Given the description of an element on the screen output the (x, y) to click on. 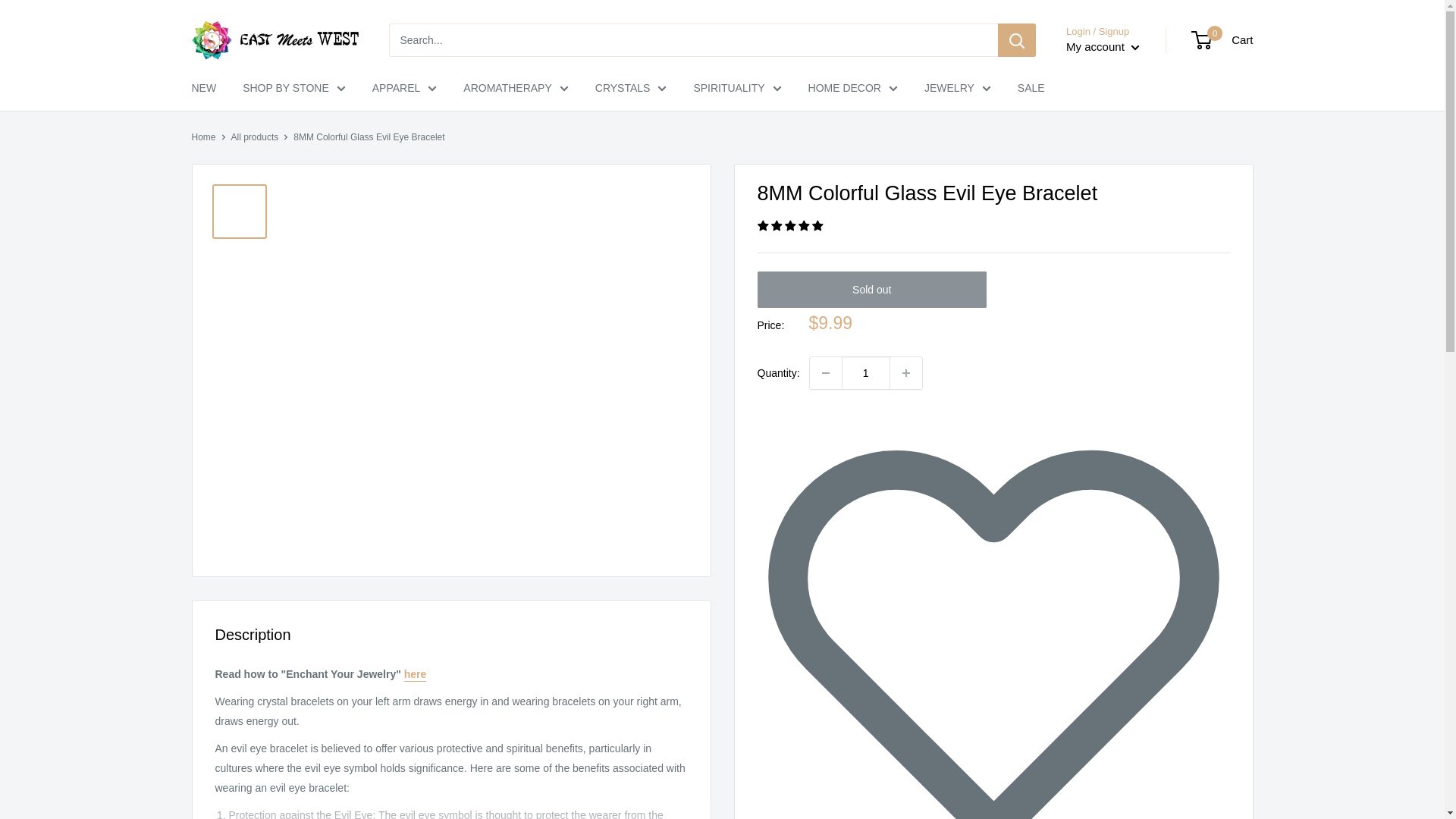
Decrease quantity by 1 (825, 373)
Increase quantity by 1 (905, 373)
1 (865, 373)
